Given the description of an element on the screen output the (x, y) to click on. 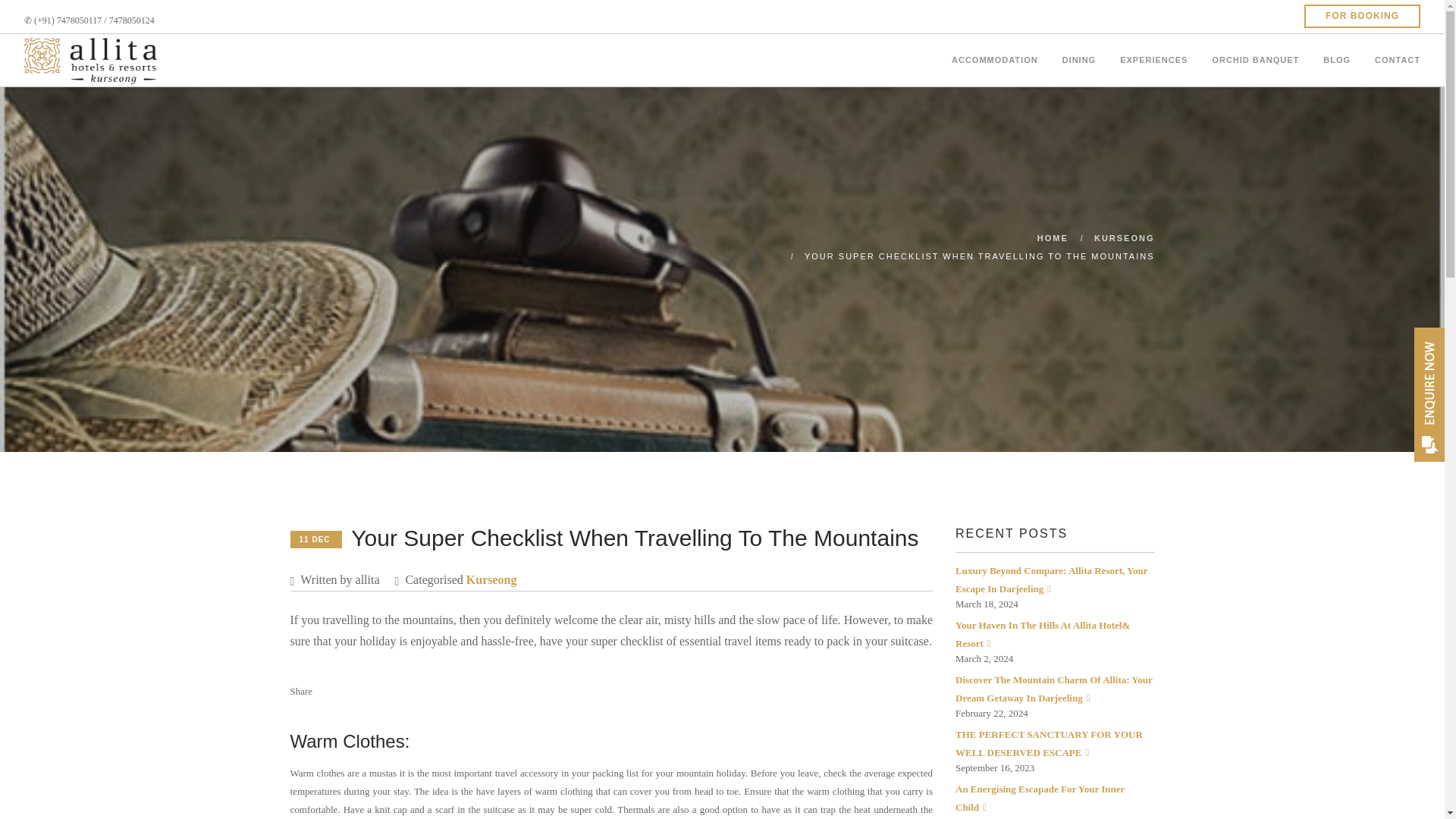
CONTACT (1397, 55)
11 DEC Your Super Checklist When Travelling To The Mountains (603, 542)
EXPERIENCES (1153, 55)
Your Super Checklist when travelling to the Mountains (979, 256)
Home (1052, 237)
KURSEONG (1124, 237)
An Energising Escapade For Your Inner Child (1039, 797)
HOME (1052, 237)
ACCOMMODATION (995, 55)
FOR BOOKING (1362, 15)
THE PERFECT SANCTUARY FOR YOUR WELL DESERVED ESCAPE (1048, 743)
ORCHID BANQUET (1254, 55)
Kurseong (490, 579)
